Given the description of an element on the screen output the (x, y) to click on. 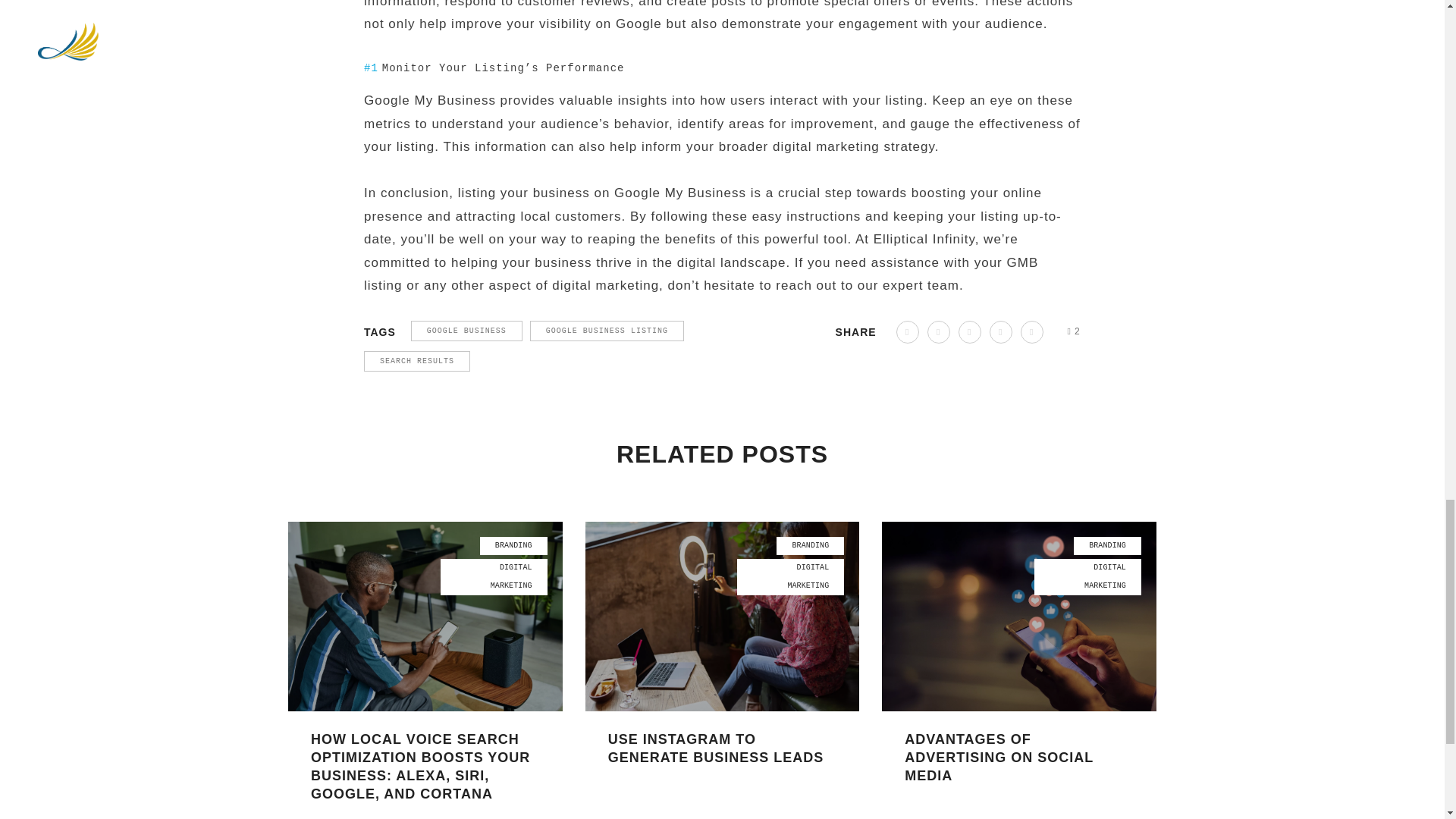
DIGITAL MARKETING (494, 576)
BRANDING (513, 546)
BRANDING (1107, 546)
SEARCH RESULTS (417, 361)
GOOGLE BUSINESS LISTING (606, 331)
Like (1073, 331)
reach out (805, 285)
USE INSTAGRAM TO GENERATE BUSINESS LEADS (716, 748)
All posts from Branding (1107, 546)
All posts from Branding (513, 546)
All posts from Branding (810, 546)
All posts from Digital Marketing (790, 576)
All posts from Digital Marketing (1087, 576)
ADVANTAGES OF ADVERTISING ON SOCIAL MEDIA (998, 757)
